Given the description of an element on the screen output the (x, y) to click on. 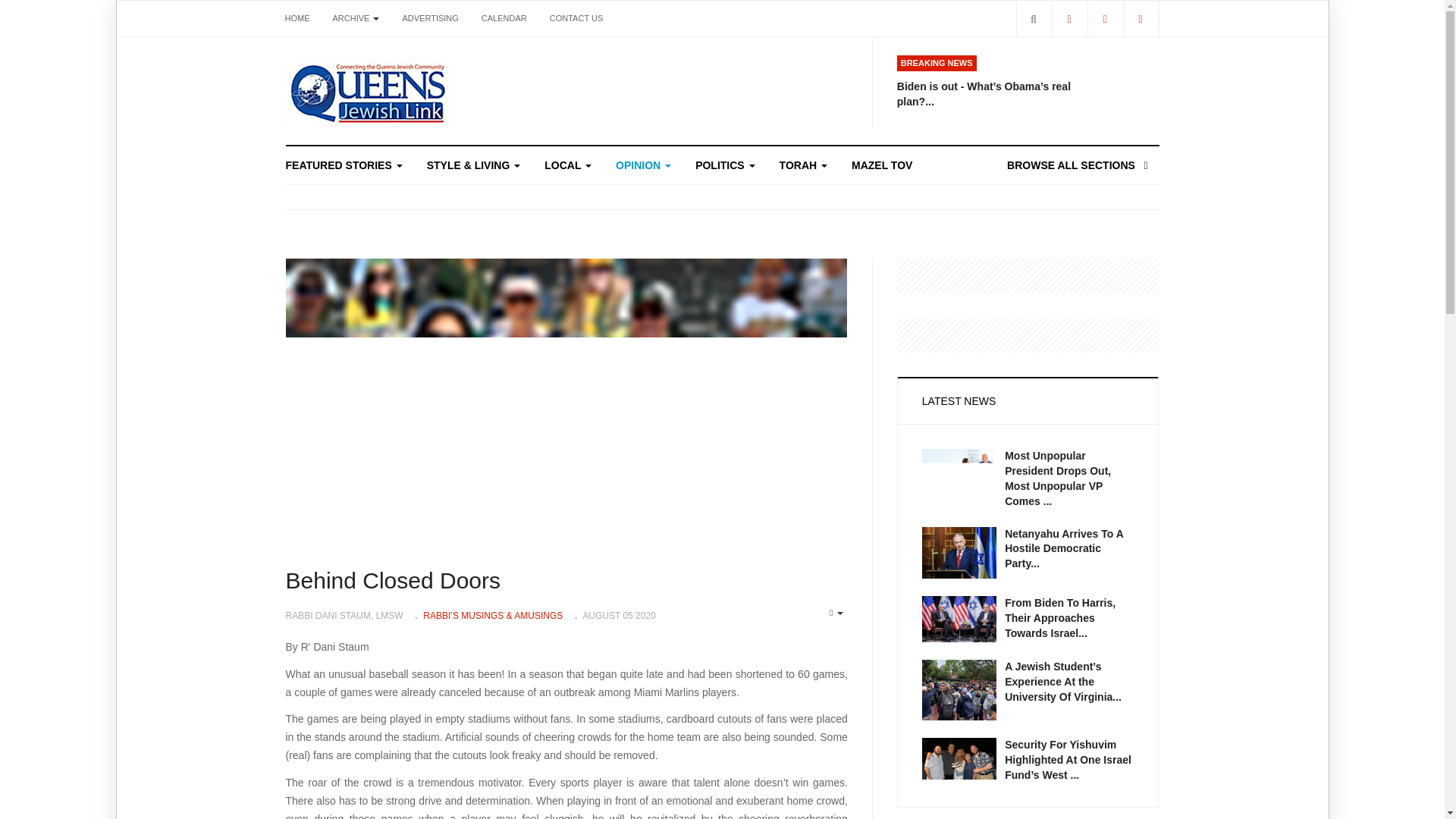
Behind Closed Doors (392, 580)
Queens Jewish Link (366, 90)
ADVERTISING (429, 18)
Twitter (1104, 18)
HOME (296, 18)
Facebook (1068, 18)
ARCHIVE (356, 18)
Instagram (1139, 18)
